Given the description of an element on the screen output the (x, y) to click on. 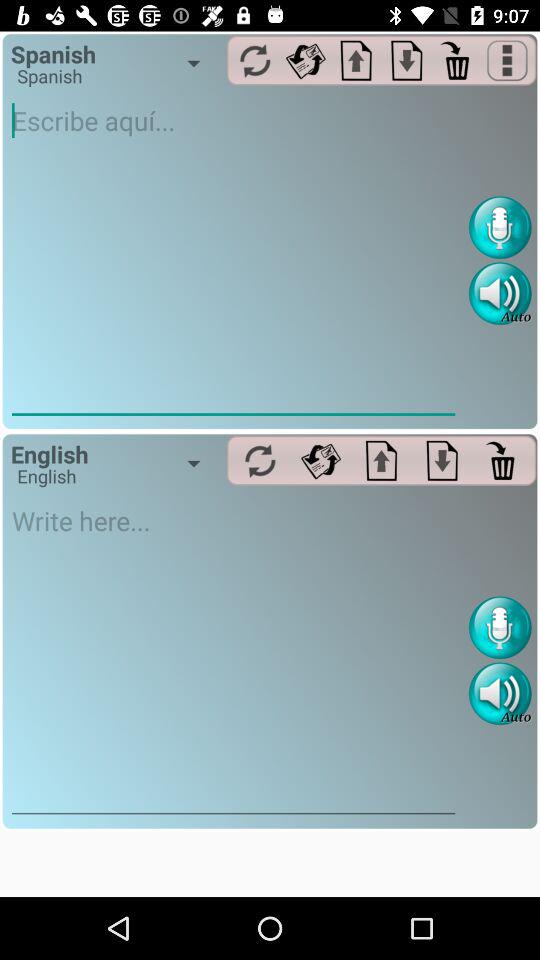
voice control (499, 227)
